Given the description of an element on the screen output the (x, y) to click on. 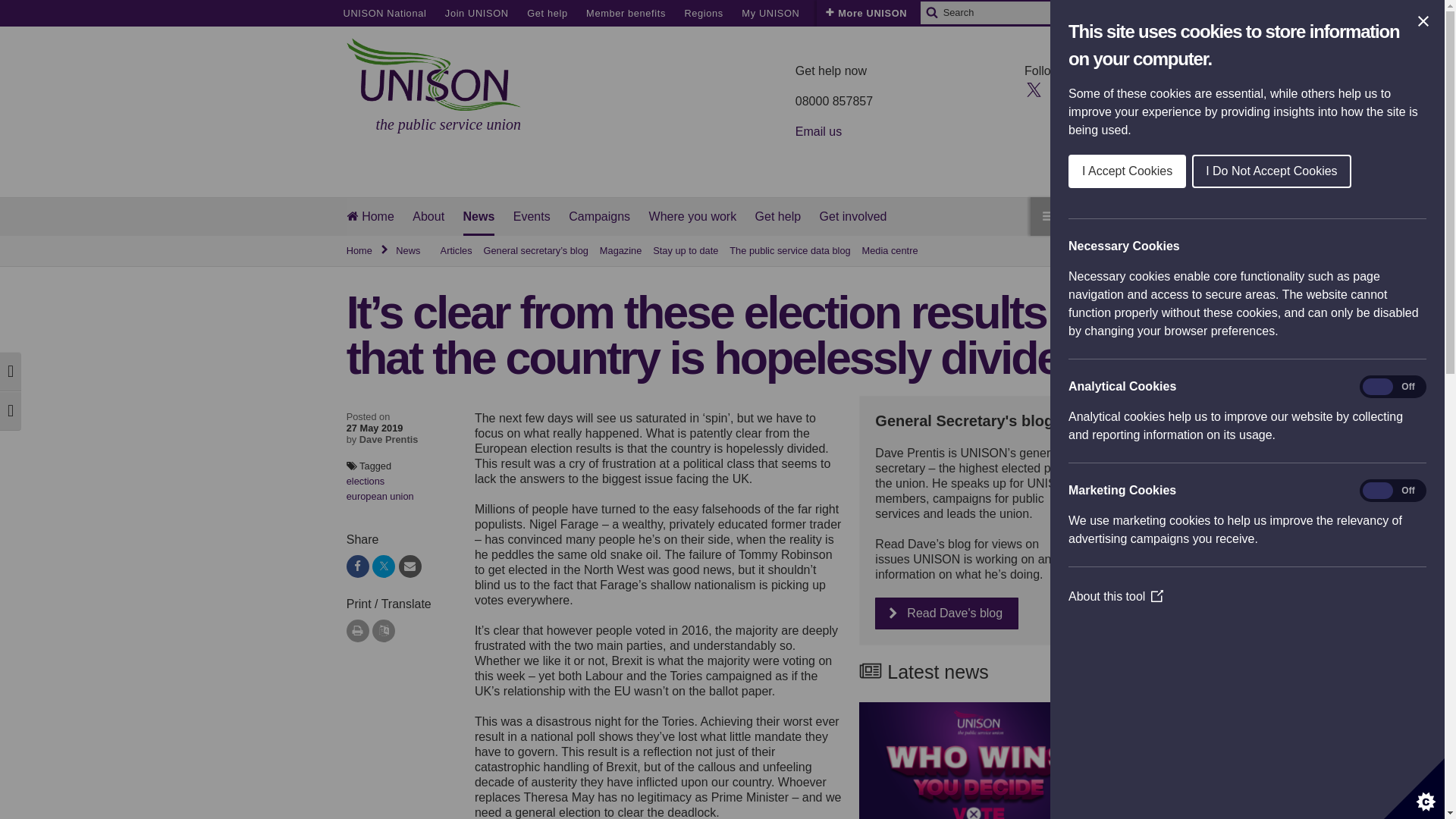
My UNISON (770, 13)
Facebook (1060, 88)
UNISON National (384, 13)
Join UNISON (476, 13)
Email us (817, 131)
I Accept Cookies (1415, 171)
the public service union (433, 85)
Get help (547, 13)
